Given the description of an element on the screen output the (x, y) to click on. 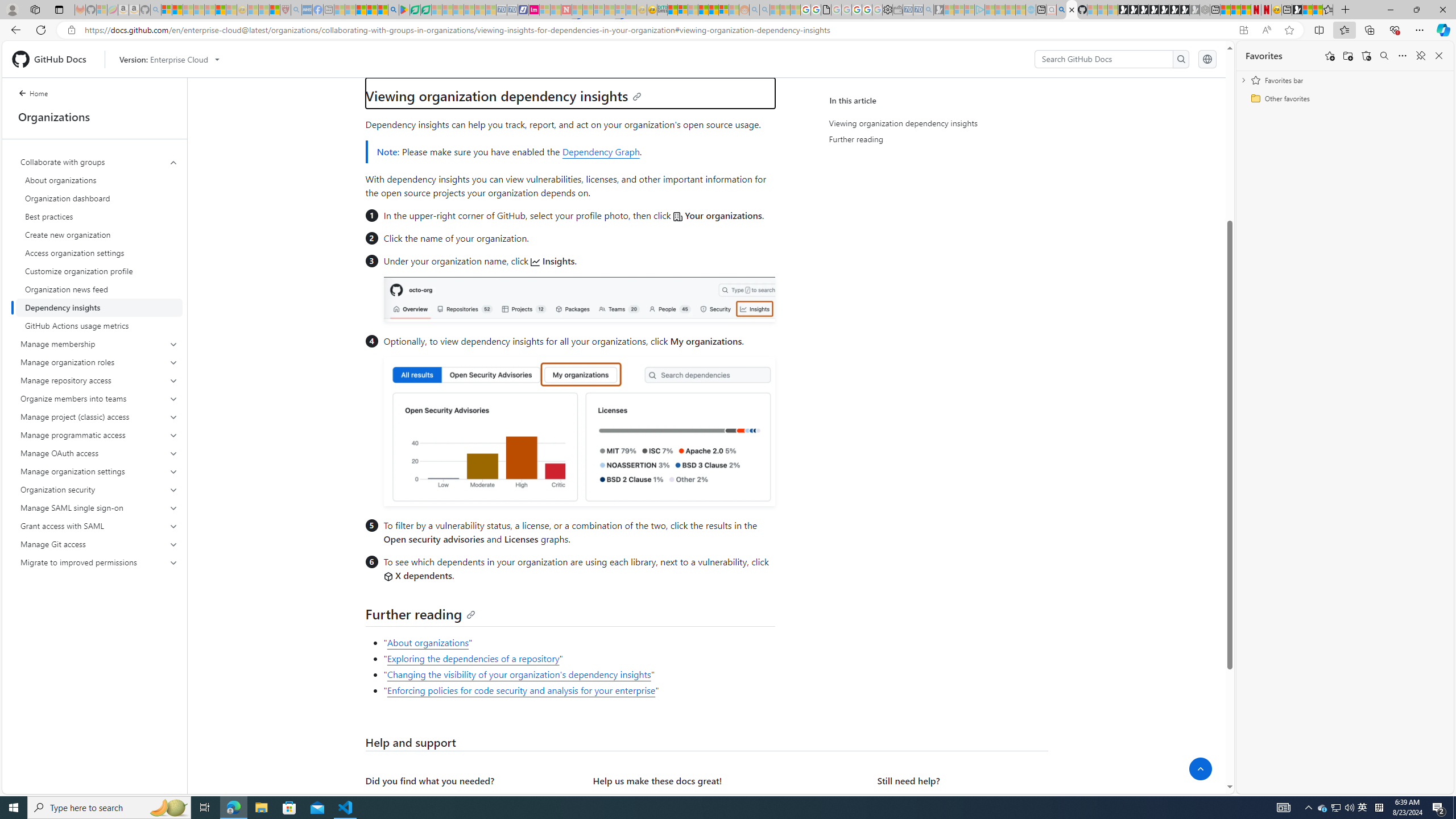
GitHub Docs (53, 58)
Manage OAuth access (99, 452)
Dependency insights (99, 307)
3Under your organization name, click Insights. (578, 289)
Pets - MSN (371, 9)
Unpin favorites (1420, 55)
Migrate to improved permissions (99, 562)
Manage membership (99, 343)
